Given the description of an element on the screen output the (x, y) to click on. 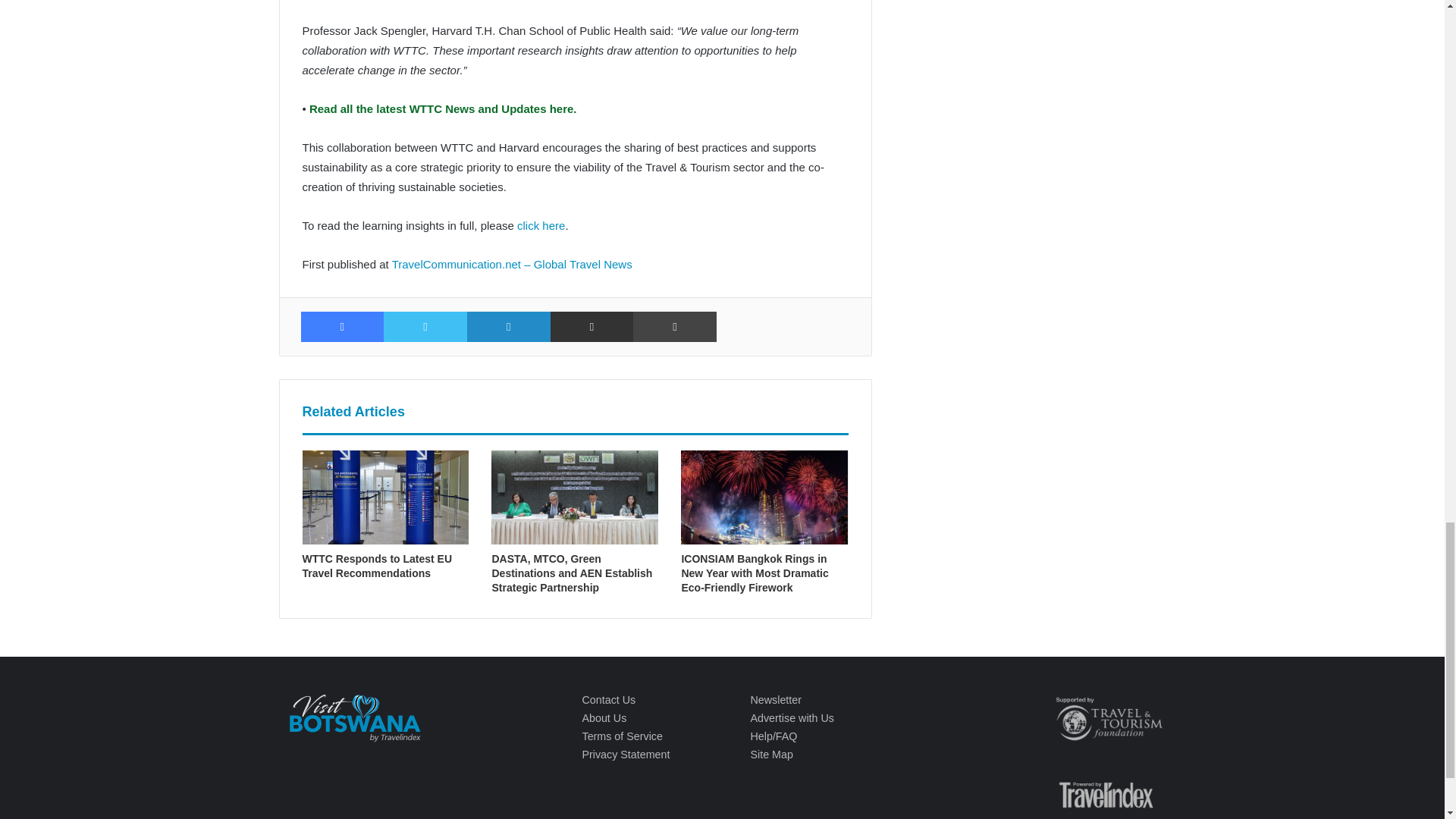
Advertise with Us (790, 717)
click here (540, 225)
LinkedIn (508, 327)
Terms of Service (621, 736)
Site Map (770, 754)
About Us (603, 717)
LinkedIn (508, 327)
Newsletter (775, 699)
Read all the latest WTTC News and Updates here. (440, 108)
Twitter (425, 327)
Twitter (425, 327)
Print (674, 327)
Facebook (341, 327)
